Given the description of an element on the screen output the (x, y) to click on. 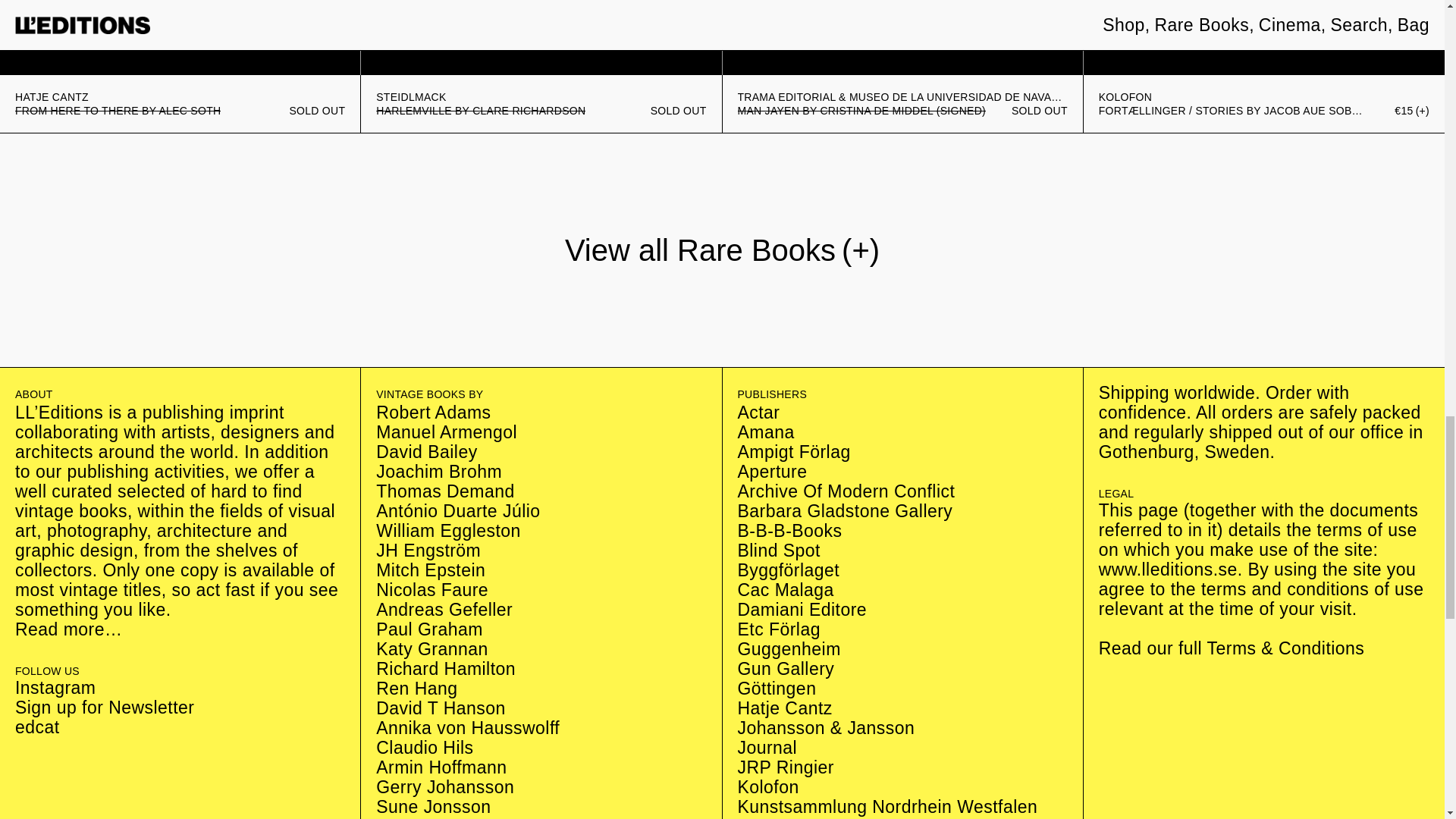
Instagram (55, 687)
Manuel Armengol (445, 432)
William Eggleston (448, 530)
edcat (36, 727)
Thomas Demand (444, 491)
Nicolas Faure (431, 589)
Sign up for Newsletter (103, 707)
Robert Adams (432, 412)
Joachim Brohm (438, 471)
Mitch Epstein (429, 569)
